Given the description of an element on the screen output the (x, y) to click on. 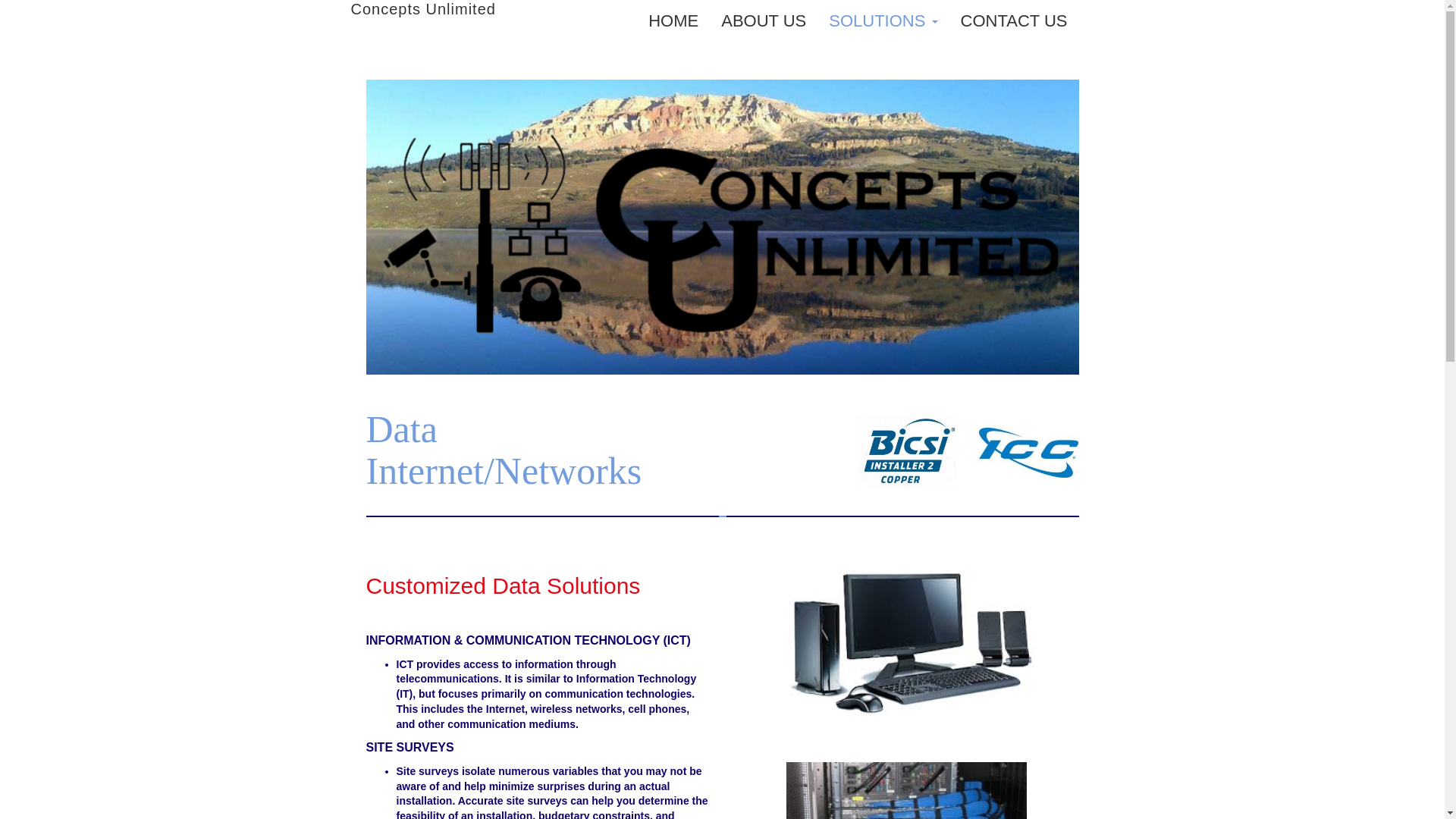
ABOUT US (763, 21)
Home (673, 21)
HOME (673, 21)
Contact Us (1013, 21)
Concepts Unlimited (422, 8)
CONTACT US (1013, 21)
About Us (763, 21)
SOLUTIONS (882, 21)
Solutions (882, 21)
